Given the description of an element on the screen output the (x, y) to click on. 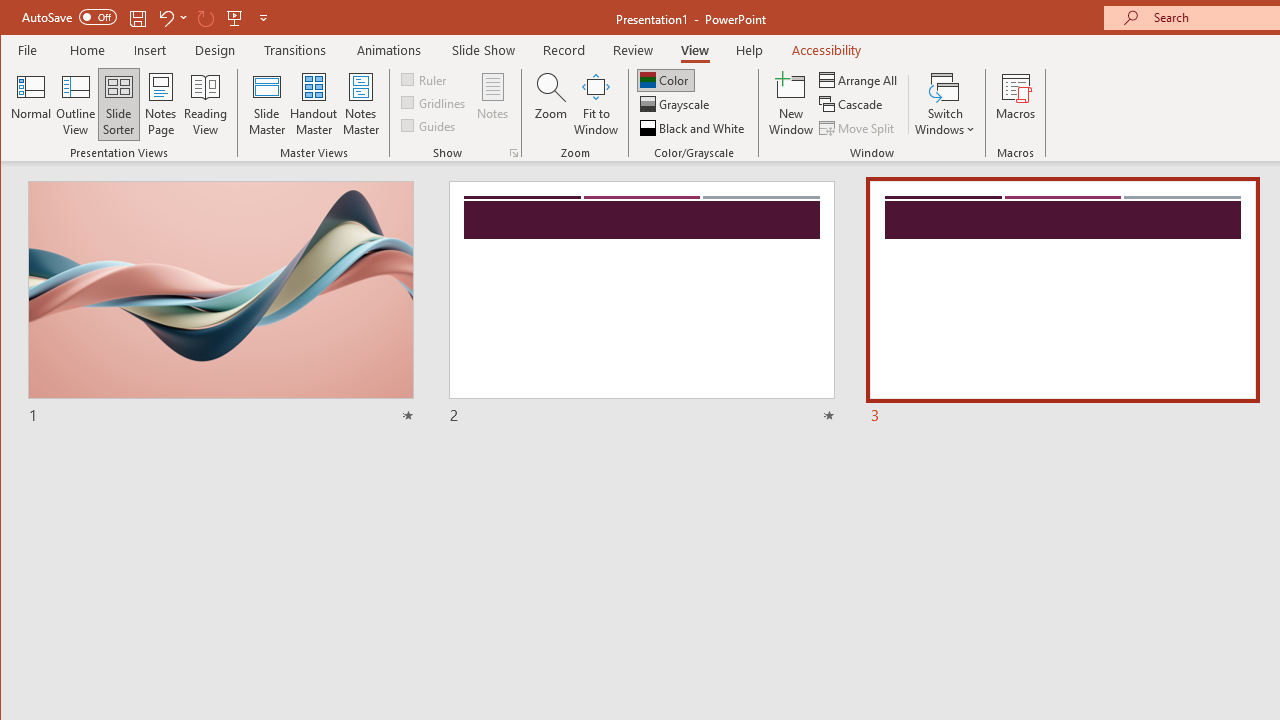
New Window (791, 104)
Notes (493, 104)
Guides (430, 124)
